Given the description of an element on the screen output the (x, y) to click on. 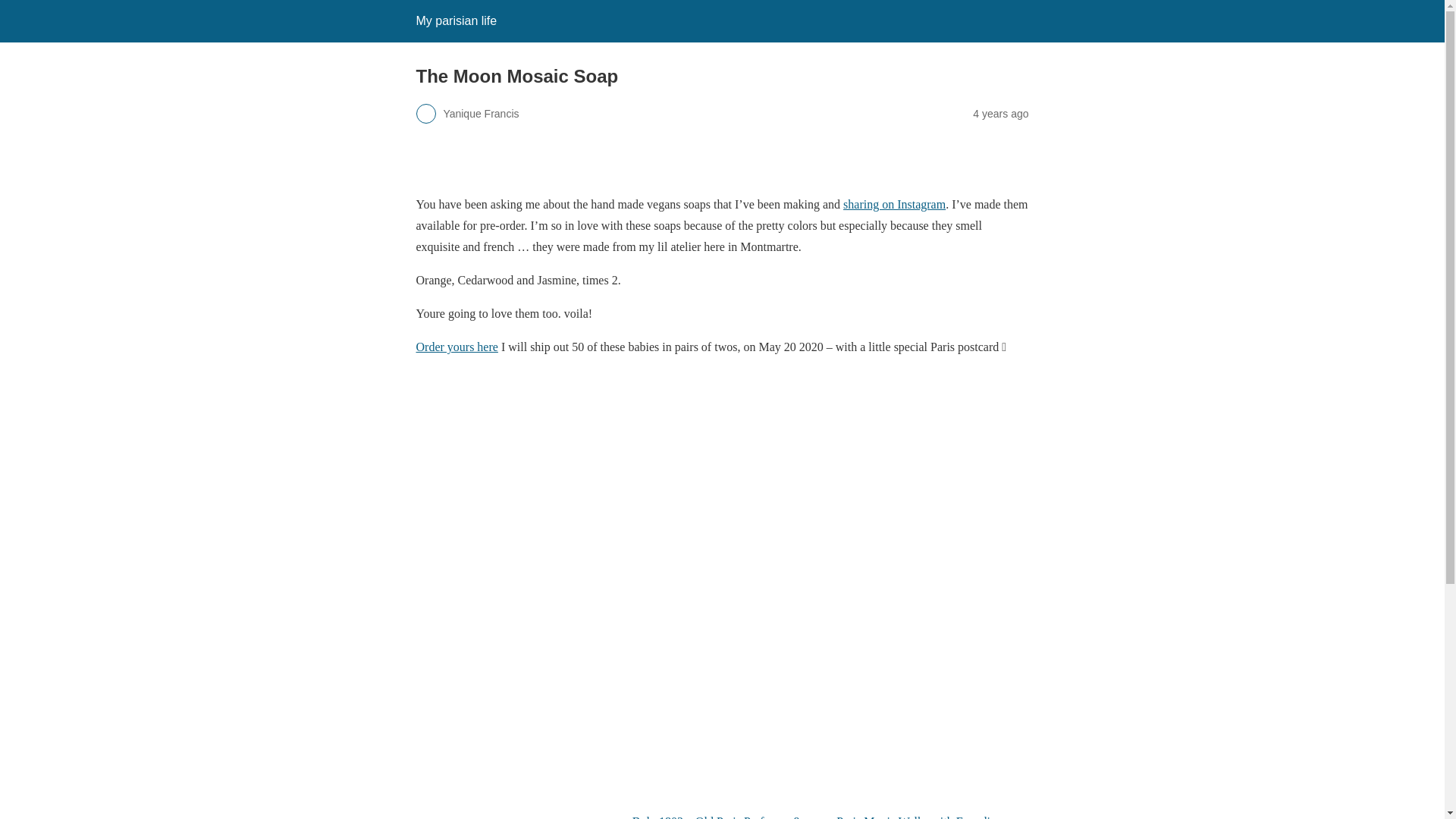
sharing on Instagram (893, 204)
Paris Movie Walks with Expedia (931, 758)
Order yours here (455, 346)
My parisian life (455, 20)
